Given the description of an element on the screen output the (x, y) to click on. 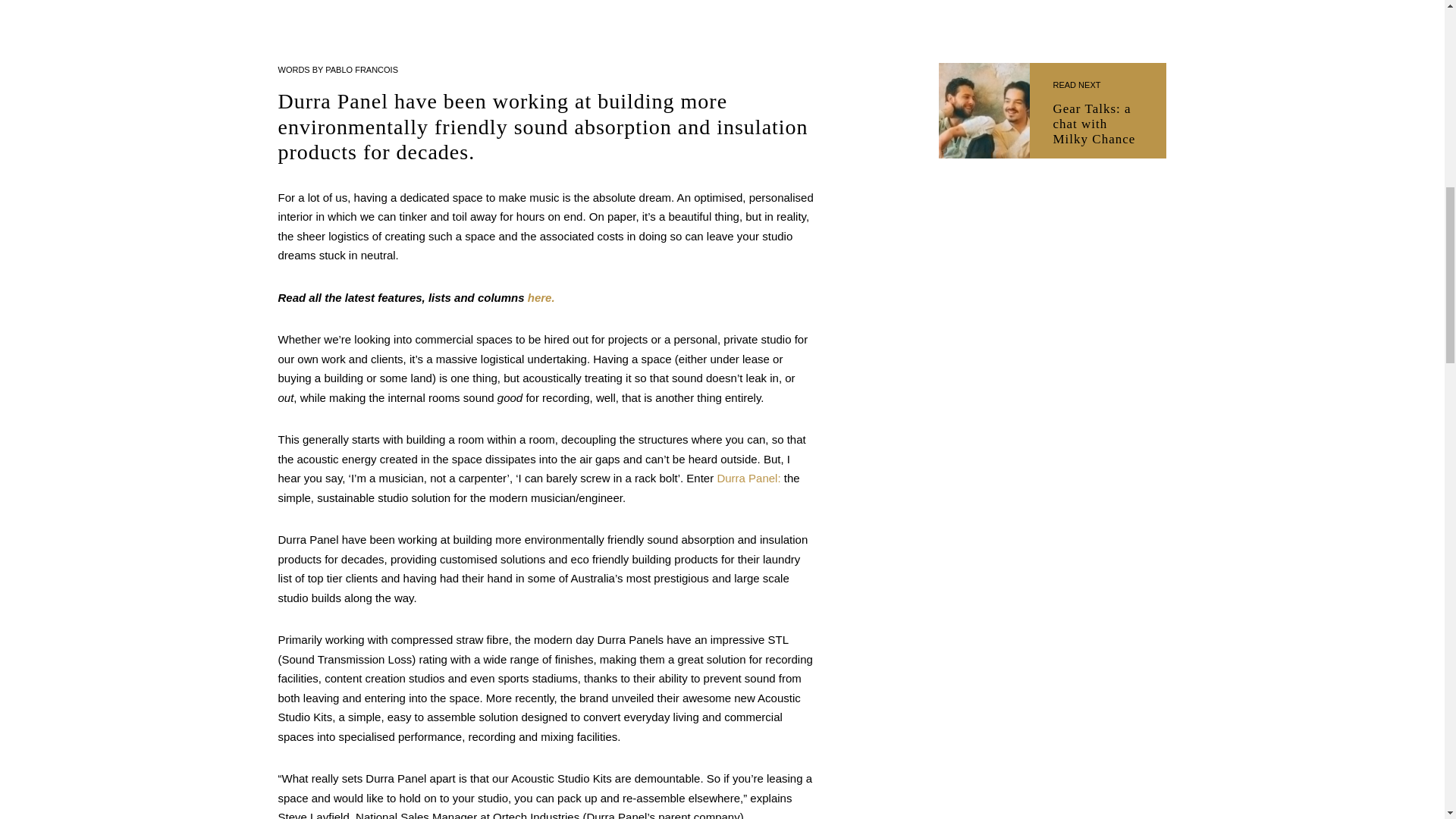
Durra Panel: (748, 477)
here. (1097, 110)
